Given the description of an element on the screen output the (x, y) to click on. 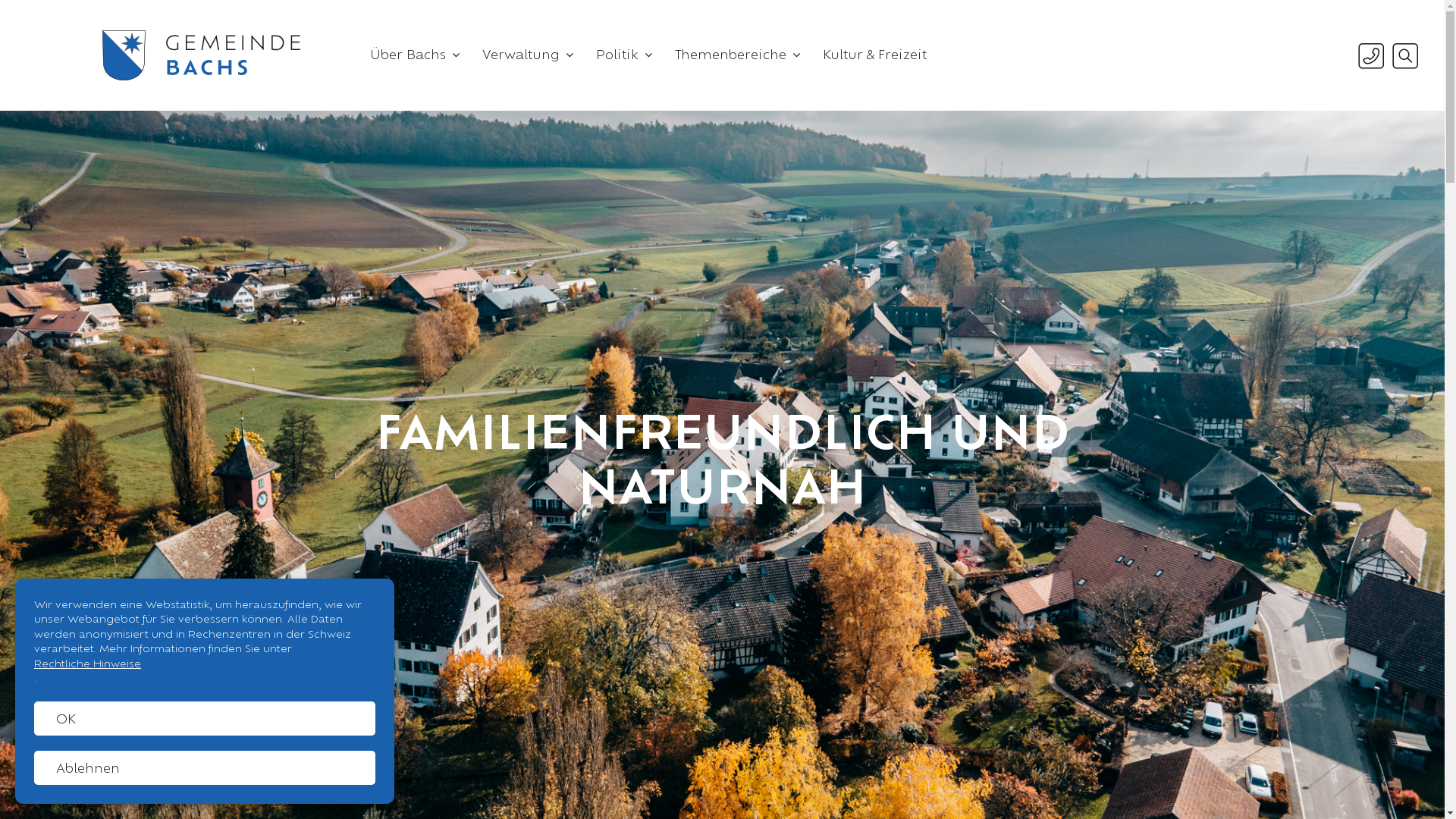
Themenbereiche Element type: text (737, 55)
Kultur & Freizeit Element type: text (874, 55)
Rechtliche Hinweise Element type: text (204, 663)
Verwaltung Element type: text (527, 55)
Politik Element type: text (624, 55)
Ablehnen Element type: text (204, 767)
OK Element type: text (204, 718)
